Given the description of an element on the screen output the (x, y) to click on. 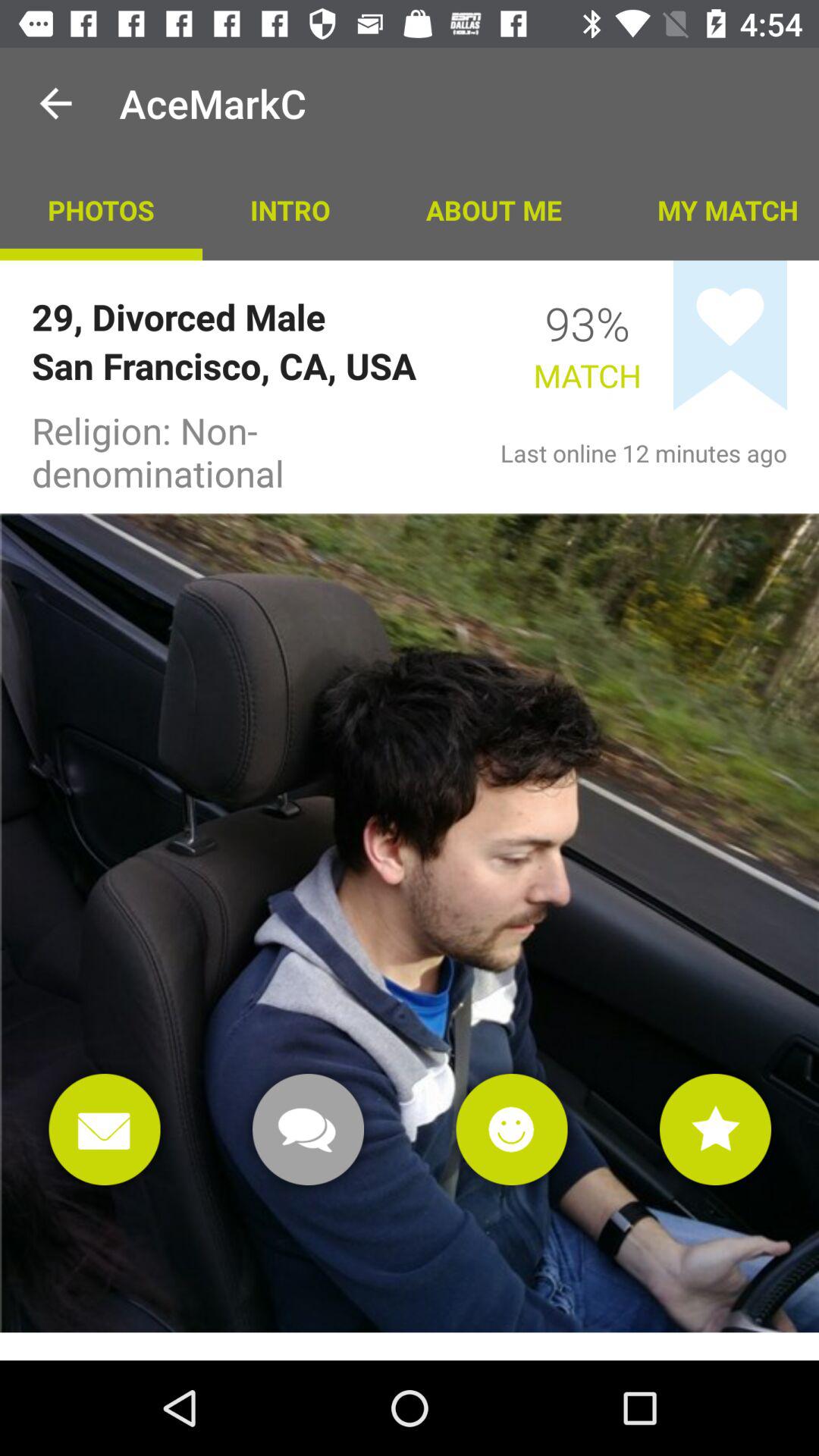
bookmark (730, 335)
